Given the description of an element on the screen output the (x, y) to click on. 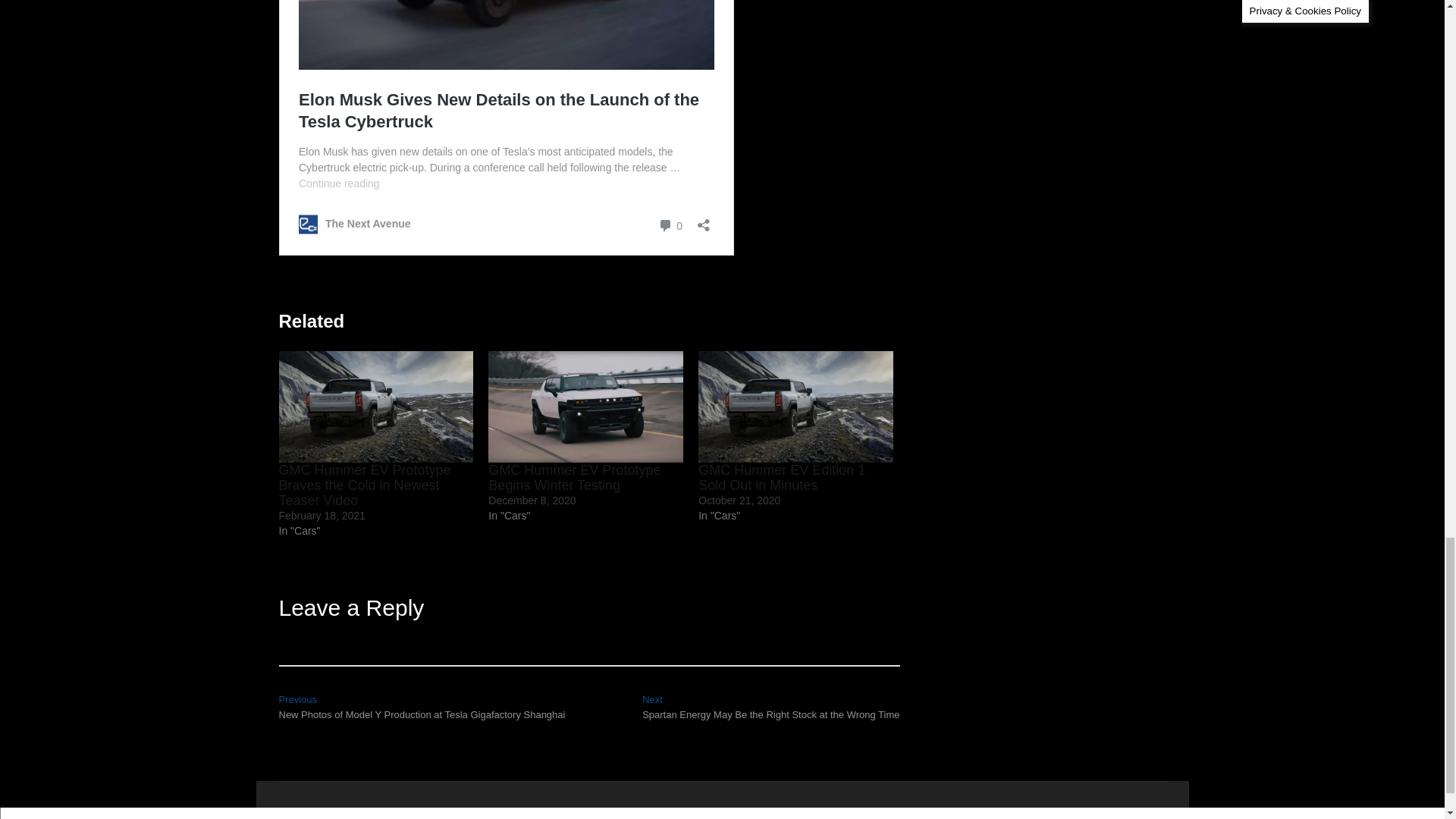
GMC Hummer EV Prototype Begins Winter Testing (574, 477)
GMC Hummer EV Edition 1 Sold Out in Minutes (781, 477)
GMC Hummer EV Prototype Begins Winter Testing (584, 406)
GMC Hummer EV Edition 1 Sold Out in Minutes (795, 406)
